Given the description of an element on the screen output the (x, y) to click on. 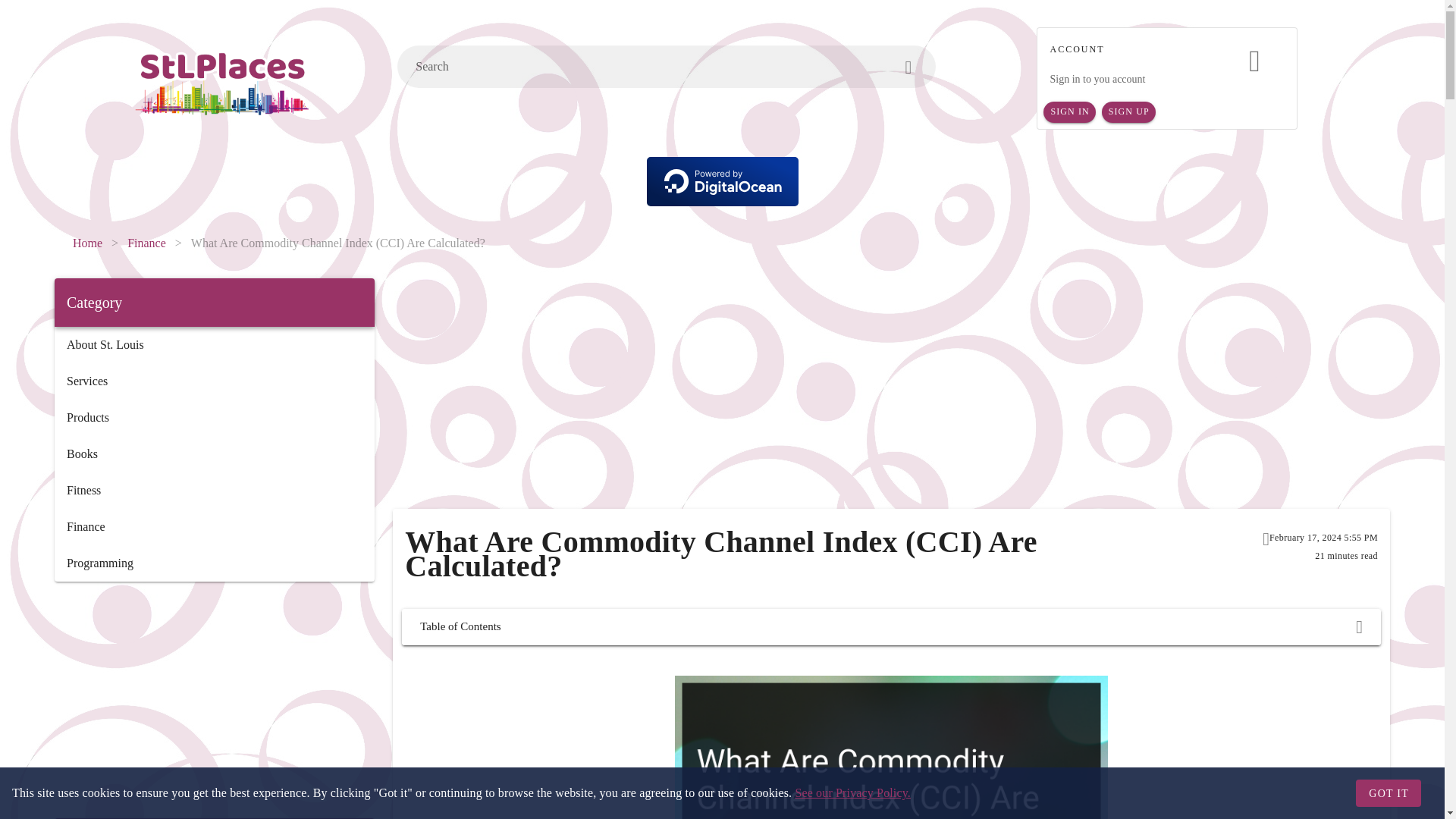
Advertisement (214, 699)
Programming (214, 563)
Finance (214, 526)
Products (214, 417)
Fitness (214, 490)
Table of Contents (890, 627)
SIGN IN (1068, 111)
Finance (146, 243)
About St. Louis (214, 344)
Books (214, 453)
Services (214, 381)
Home (86, 243)
SIGN UP (1129, 111)
